Given the description of an element on the screen output the (x, y) to click on. 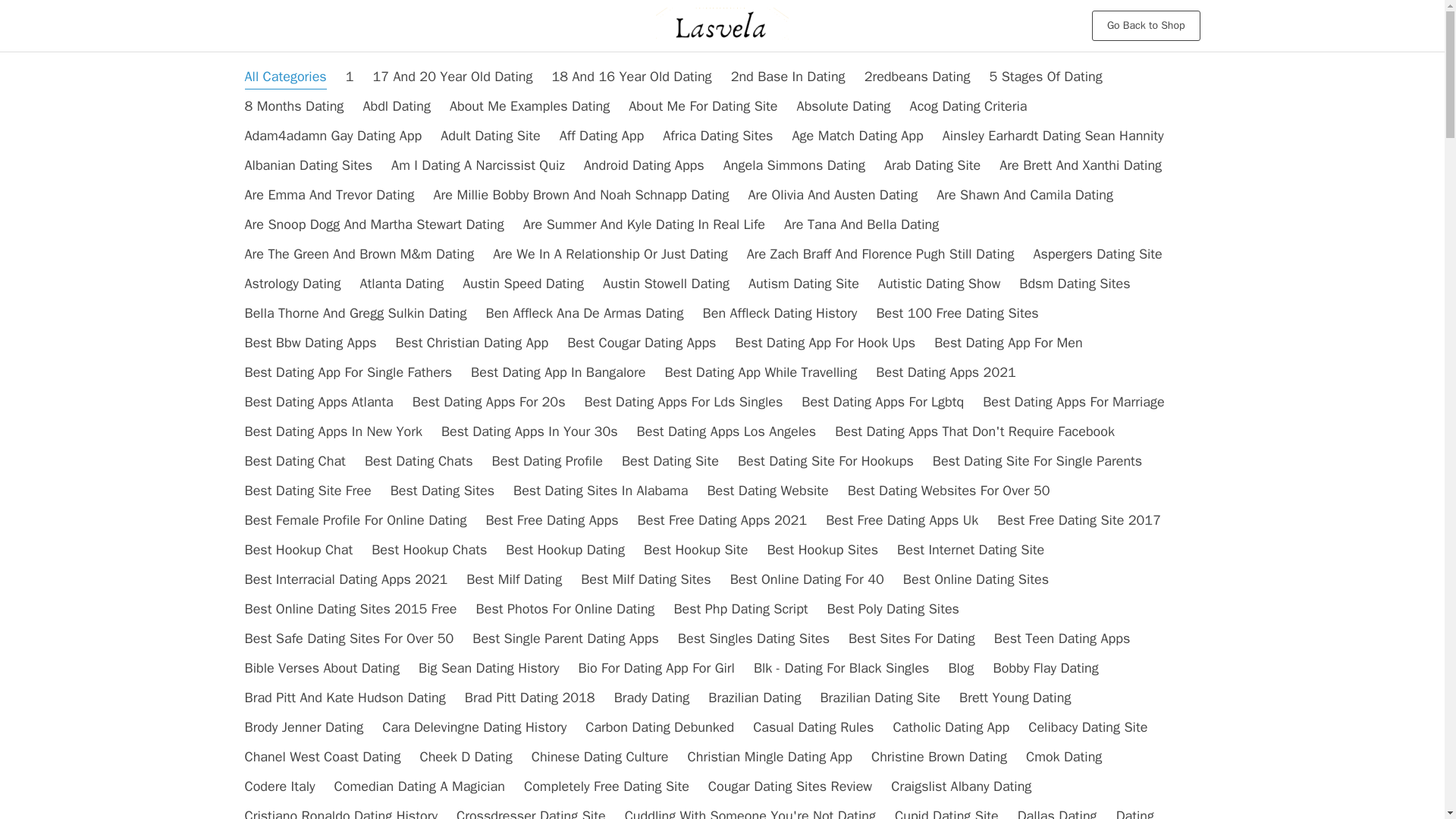
Age Match Dating App (857, 135)
Albanian Dating Sites (308, 165)
Aspergers Dating Site (1096, 253)
Arab Dating Site (931, 165)
Are Emma And Trevor Dating (328, 194)
Are Tana And Bella Dating (861, 224)
Go Back to Shop (1145, 25)
Absolute Dating (843, 106)
Africa Dating Sites (717, 135)
Ainsley Earhardt Dating Sean Hannity (1052, 135)
Acog Dating Criteria (968, 106)
About Me For Dating Site (702, 106)
Adam4adamn Gay Dating App (333, 135)
Are Shawn And Camila Dating (1024, 194)
Are Summer And Kyle Dating In Real Life (643, 224)
